Given the description of an element on the screen output the (x, y) to click on. 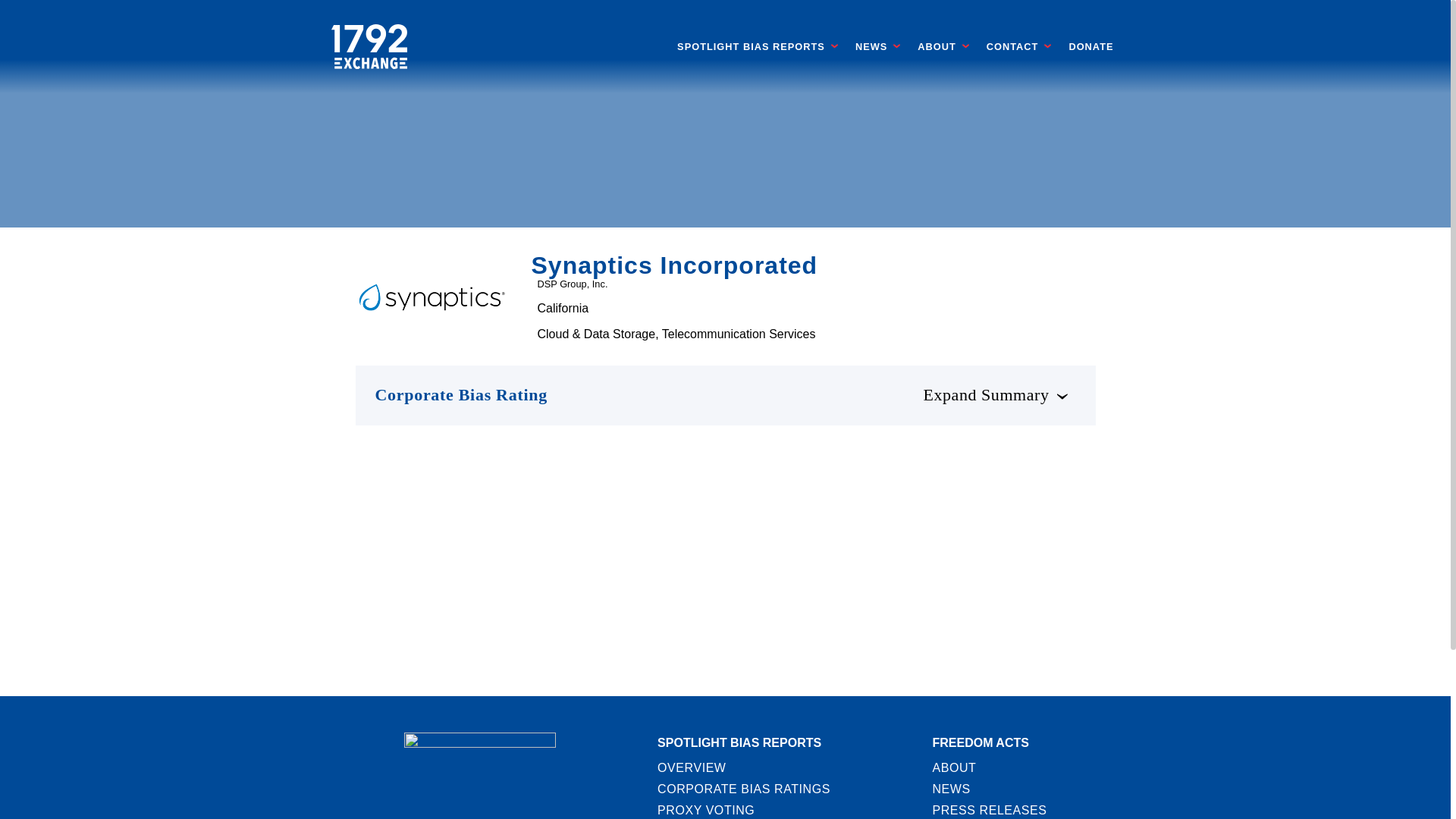
DONATE (1090, 46)
NEWS (871, 46)
ABOUT (936, 46)
CONTACT (1013, 46)
SPOTLIGHT BIAS REPORTS (751, 46)
